Given the description of an element on the screen output the (x, y) to click on. 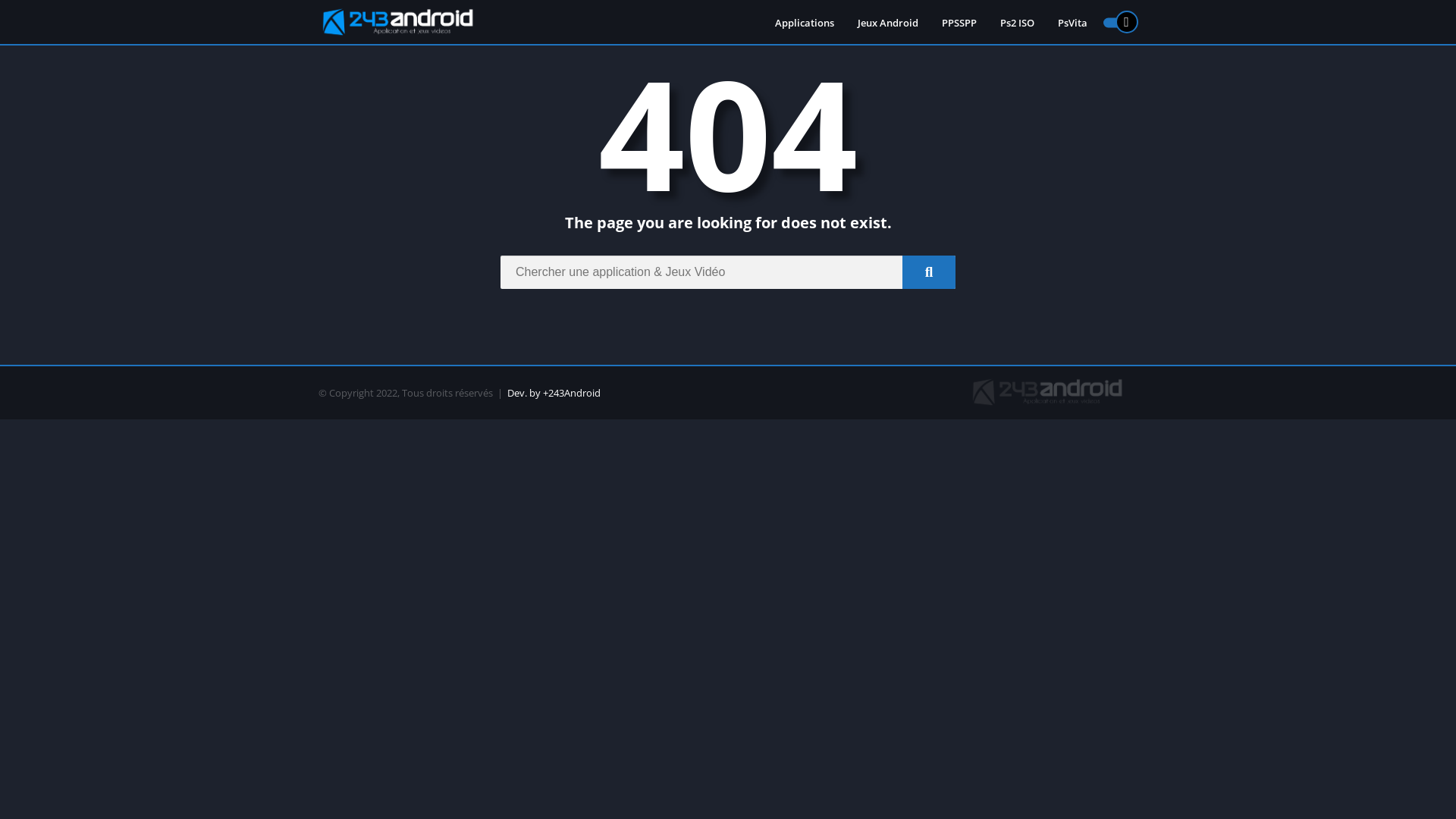
PPSSPP Element type: text (959, 22)
Ps2 ISO Element type: text (1016, 22)
Dev. by +243Android Element type: text (553, 392)
Jeux Android Element type: text (887, 22)
Applications Element type: text (804, 22)
PsVita Element type: text (1072, 22)
